Given the description of an element on the screen output the (x, y) to click on. 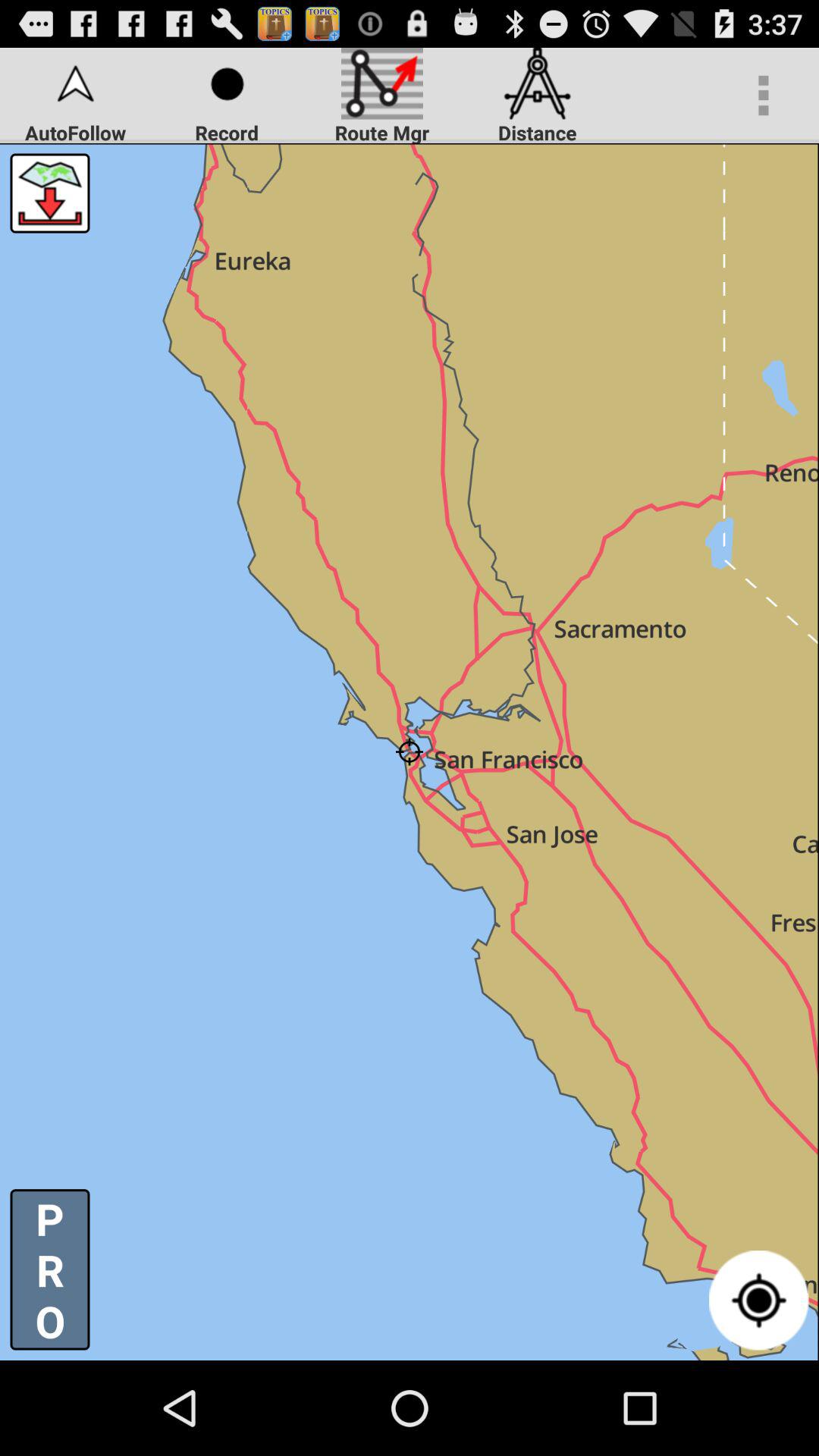
press button above p
r
o button (49, 193)
